Given the description of an element on the screen output the (x, y) to click on. 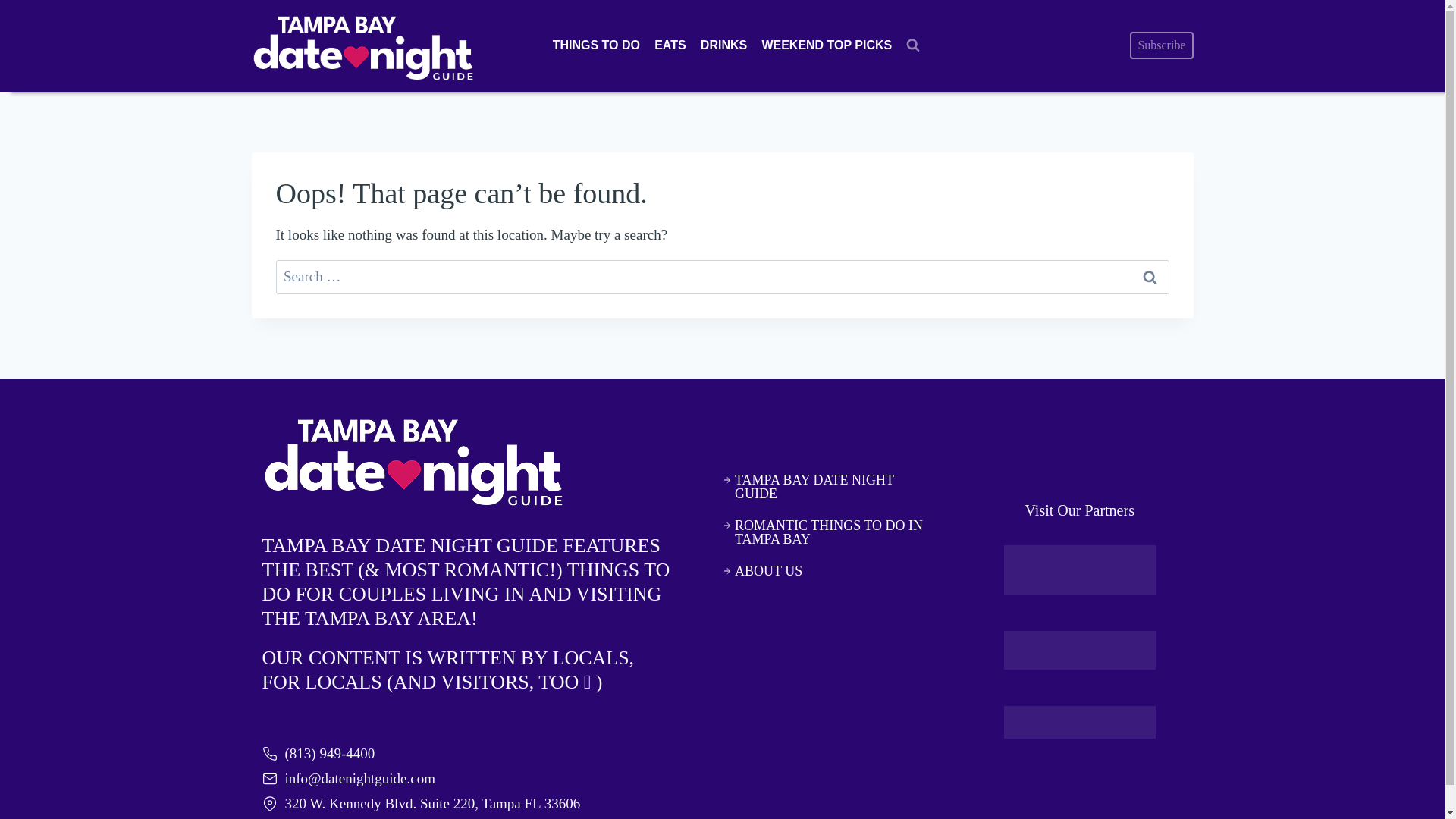
WEEKEND TOP PICKS (826, 45)
DRINKS (723, 45)
Search (1150, 277)
TAMPA BAY DATE NIGHT GUIDE (825, 486)
ABOUT US (825, 571)
Link to Orlando Parenting's website, orlando-parenting.com (1080, 649)
EATS (670, 45)
Search (1150, 277)
THINGS TO DO (595, 45)
Link to Orlando Date Night Guide's website (1080, 569)
ROMANTIC THINGS TO DO IN TAMPA BAY (825, 532)
Link to Tampa Bay Parenting's website,  (1080, 721)
Subscribe (1160, 44)
Search (1150, 277)
